Given the description of an element on the screen output the (x, y) to click on. 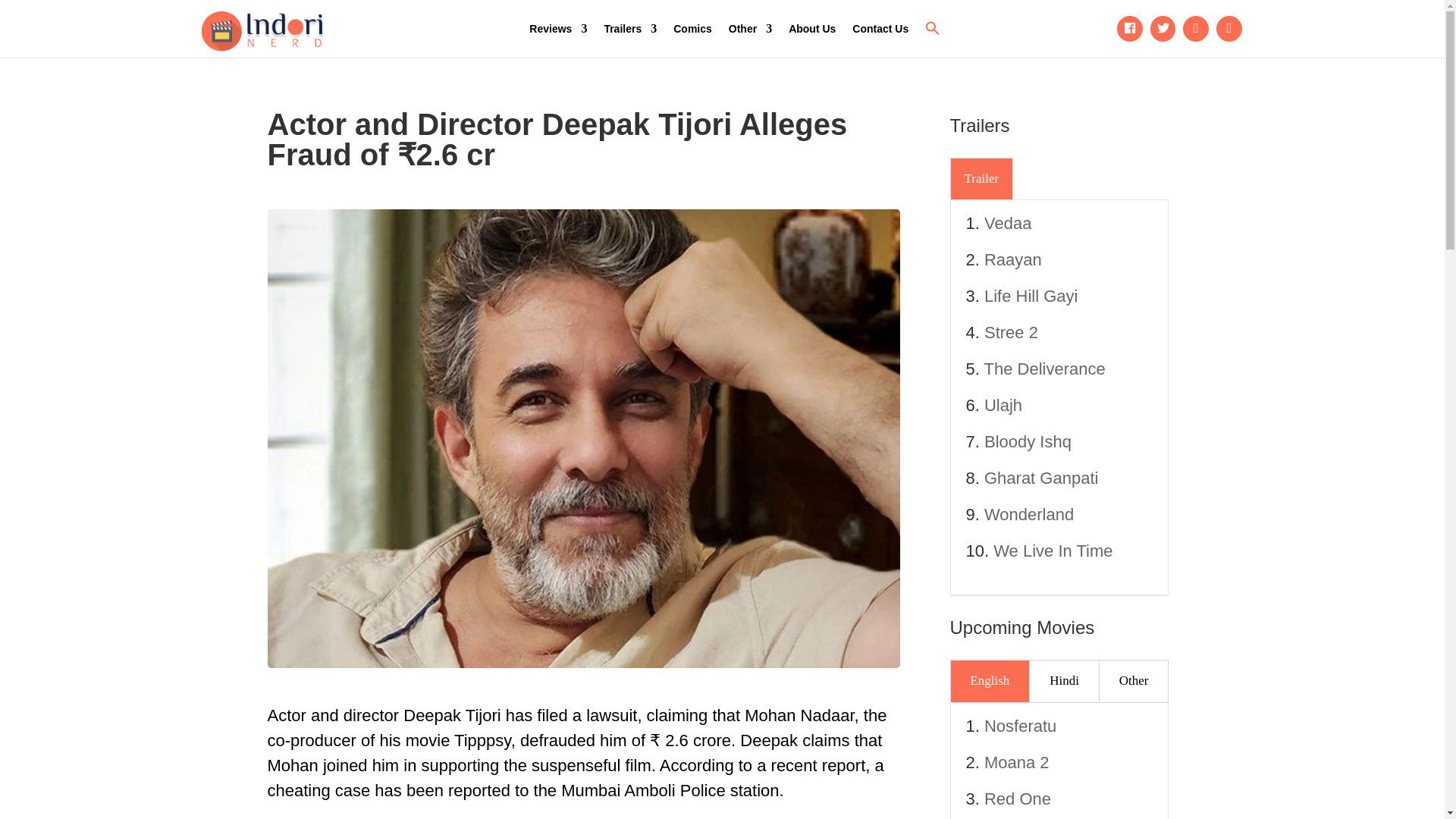
About Us (812, 28)
Rss (1229, 28)
Ulajh (1003, 404)
Comics (691, 28)
Reviews (557, 28)
Trailer (981, 178)
Vedaa (1007, 222)
Trailers (630, 28)
Wonderland (1029, 514)
Facebook alt (1130, 28)
Twitter (1163, 28)
The Deliverance (1044, 368)
Bloody Ishq (1027, 441)
Life Hill Gayi (1030, 295)
Hindi (1064, 680)
